Given the description of an element on the screen output the (x, y) to click on. 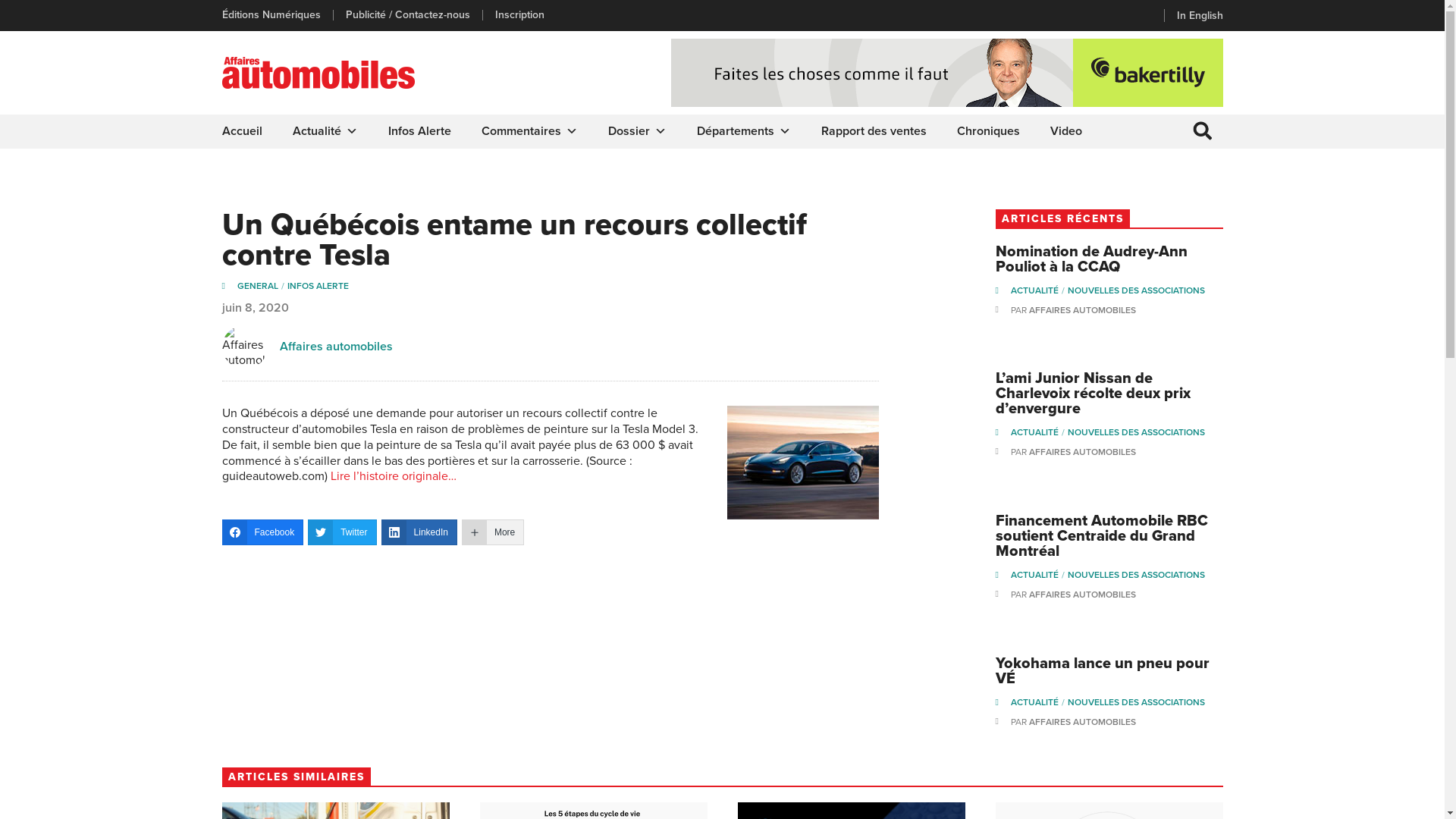
Video Element type: text (1065, 131)
GENERAL Element type: text (261, 285)
AFFAIRES AUTOMOBILES Element type: text (1081, 309)
Chroniques Element type: text (988, 131)
AFFAIRES AUTOMOBILES Element type: text (1081, 721)
Affaires automobiles Element type: hover (243, 347)
NOUVELLES DES ASSOCIATIONS Element type: text (1135, 574)
Accueil Element type: text (241, 131)
NOUVELLES DES ASSOCIATIONS Element type: text (1135, 289)
LinkedIn Element type: text (419, 532)
Facebook Element type: text (262, 532)
NOUVELLES DES ASSOCIATIONS Element type: text (1135, 701)
AFFAIRES AUTOMOBILES Element type: text (1081, 594)
AFFAIRES AUTOMOBILES Element type: text (1081, 451)
Rapport des ventes Element type: text (872, 131)
In English Element type: text (1199, 15)
NOUVELLES DES ASSOCIATIONS Element type: text (1135, 431)
INFOS ALERTE Element type: text (317, 285)
Twitter Element type: text (341, 532)
More Element type: text (492, 532)
Dossier Element type: text (637, 131)
Affaires automobiles Element type: text (335, 346)
Infos Alerte Element type: text (419, 131)
Inscription Element type: text (519, 14)
Commentaires Element type: text (528, 131)
